Given the description of an element on the screen output the (x, y) to click on. 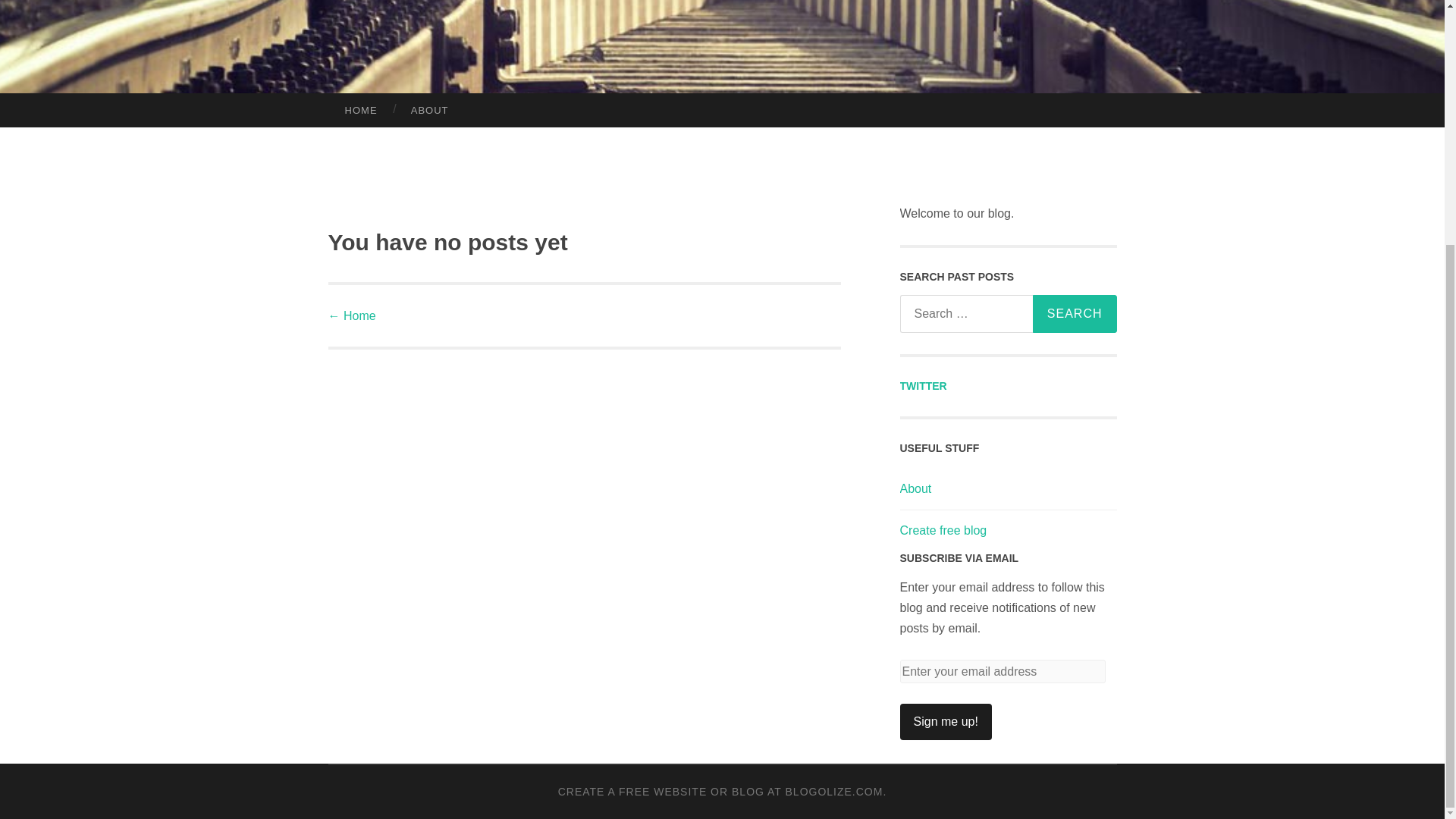
About (915, 488)
SKIP TO CONTENT (66, 114)
Search (1074, 313)
Search for: (1006, 313)
Search (1074, 313)
Sign me up! (945, 721)
ABOUT (429, 110)
HOME (360, 110)
TWITTER (922, 386)
Sign me up! (945, 721)
